Given the description of an element on the screen output the (x, y) to click on. 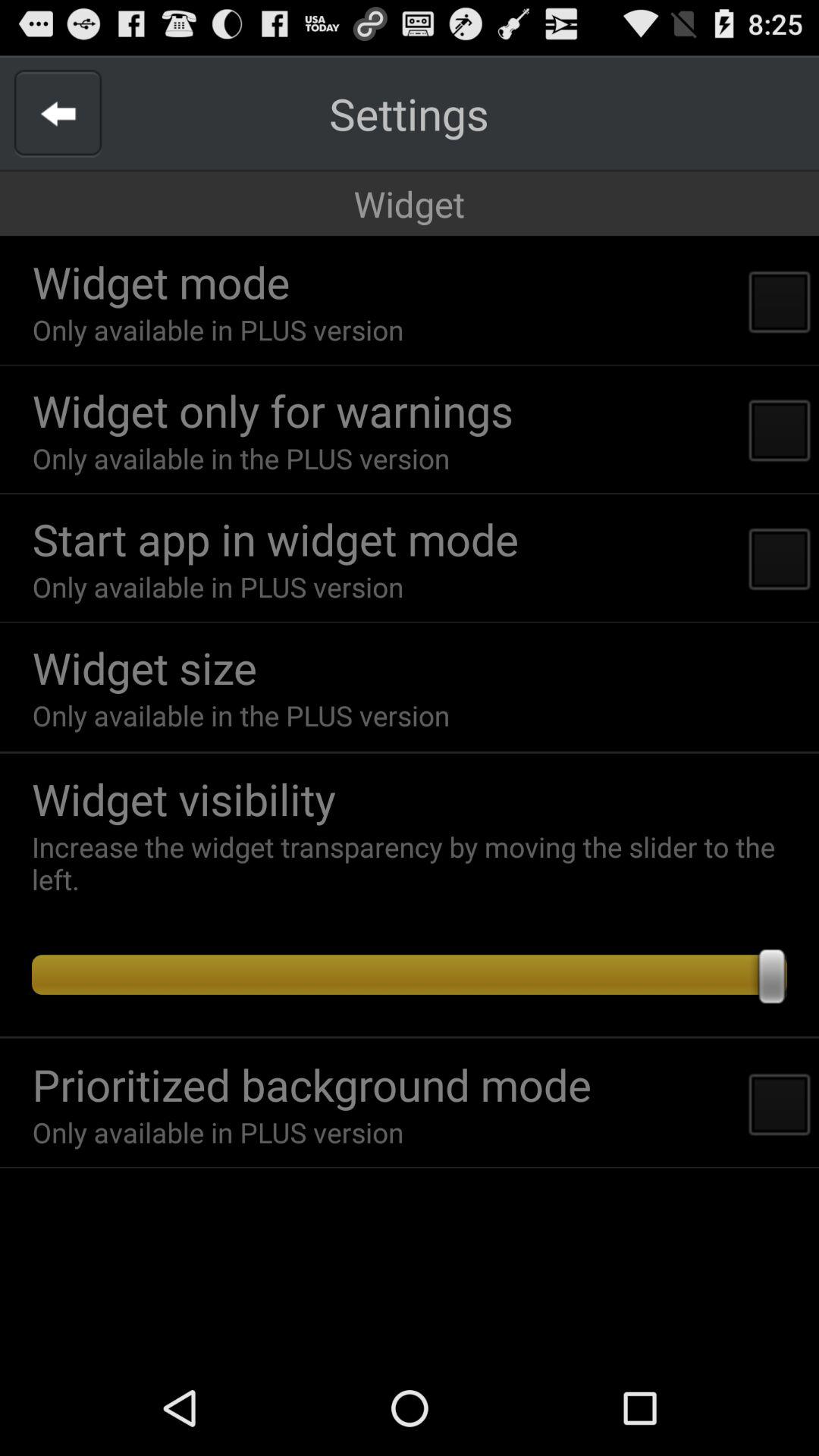
open the icon below only available in (409, 752)
